Given the description of an element on the screen output the (x, y) to click on. 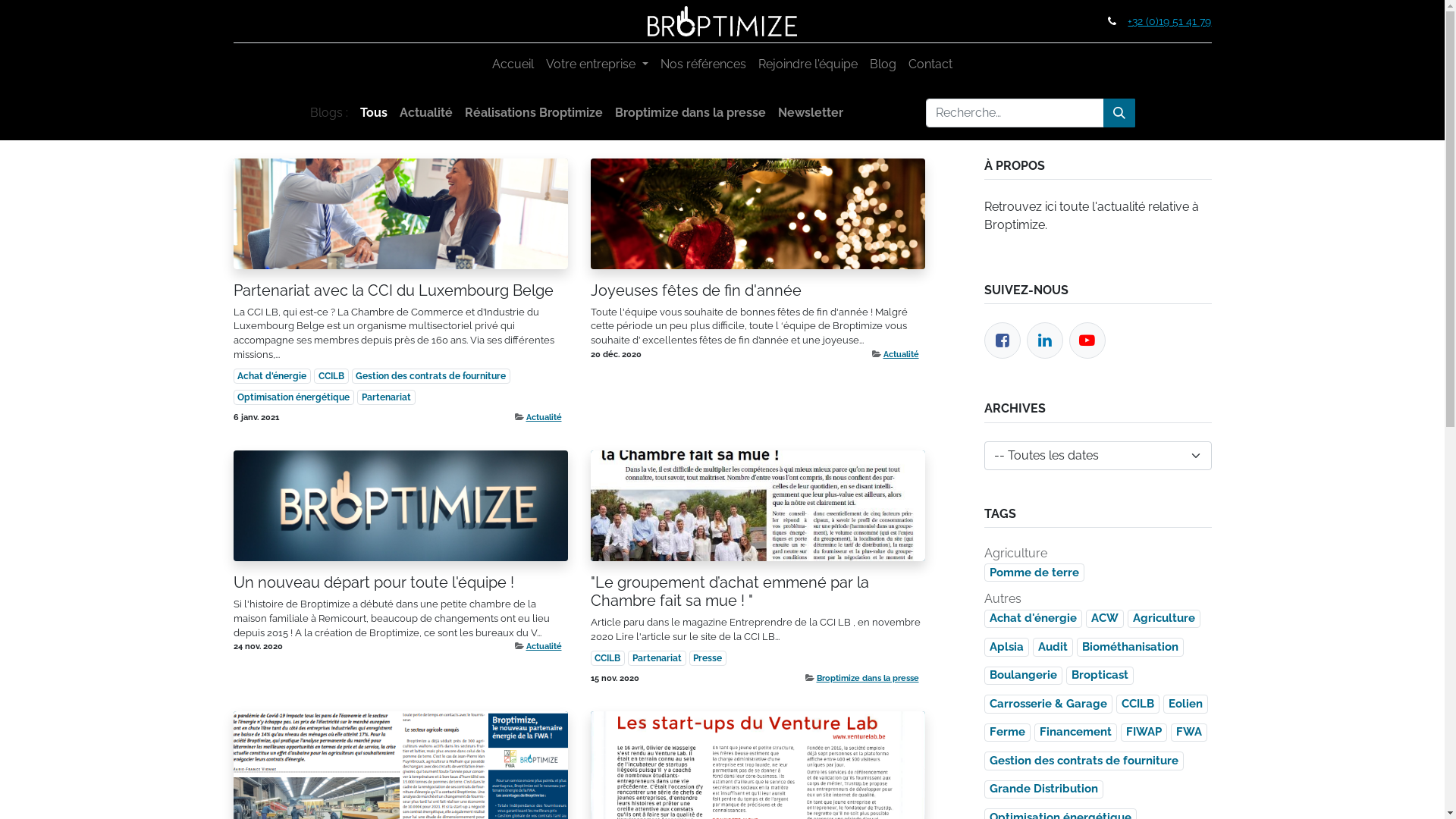
Youtube Element type: hover (1087, 340)
Gestion des contrats de fourniture Element type: text (1083, 760)
Blog Element type: text (882, 64)
Agriculture Element type: text (1162, 618)
Ferme Element type: text (1007, 732)
Facebook Element type: hover (1002, 340)
Eolien Element type: text (1185, 703)
CCILB Element type: text (330, 375)
Newsletter Element type: text (810, 112)
Aplsia Element type: text (1006, 646)
FWA Element type: text (1188, 732)
Partenariat Element type: text (386, 396)
Partenariat Element type: text (656, 657)
Accueil Element type: text (512, 64)
Contact Element type: text (930, 64)
Broptimize Element type: hover (722, 21)
CCILB Element type: text (1137, 703)
Tous Element type: text (372, 112)
Boulangerie Element type: text (1023, 675)
Bropticast Element type: text (1099, 675)
Partenariat avec la CCI du Luxembourg Belge Element type: text (400, 290)
Presse Element type: text (708, 657)
Rechercher Element type: hover (1118, 112)
Broptimize dans la presse Element type: text (689, 112)
Votre entreprise Element type: text (596, 64)
Pomme de terre Element type: text (1034, 572)
ACW Element type: text (1104, 618)
FIWAP Element type: text (1143, 732)
Grande Distribution Element type: text (1043, 789)
+32 (0)19 51 41 79 Element type: text (1169, 21)
Financement Element type: text (1075, 732)
Broptimize dans la presse Element type: text (866, 677)
Audit Element type: text (1052, 646)
Carrosserie & Garage Element type: text (1048, 703)
Gestion des contrats de fourniture Element type: text (431, 375)
LinkedIn Element type: hover (1044, 340)
CCILB Element type: text (606, 657)
